Given the description of an element on the screen output the (x, y) to click on. 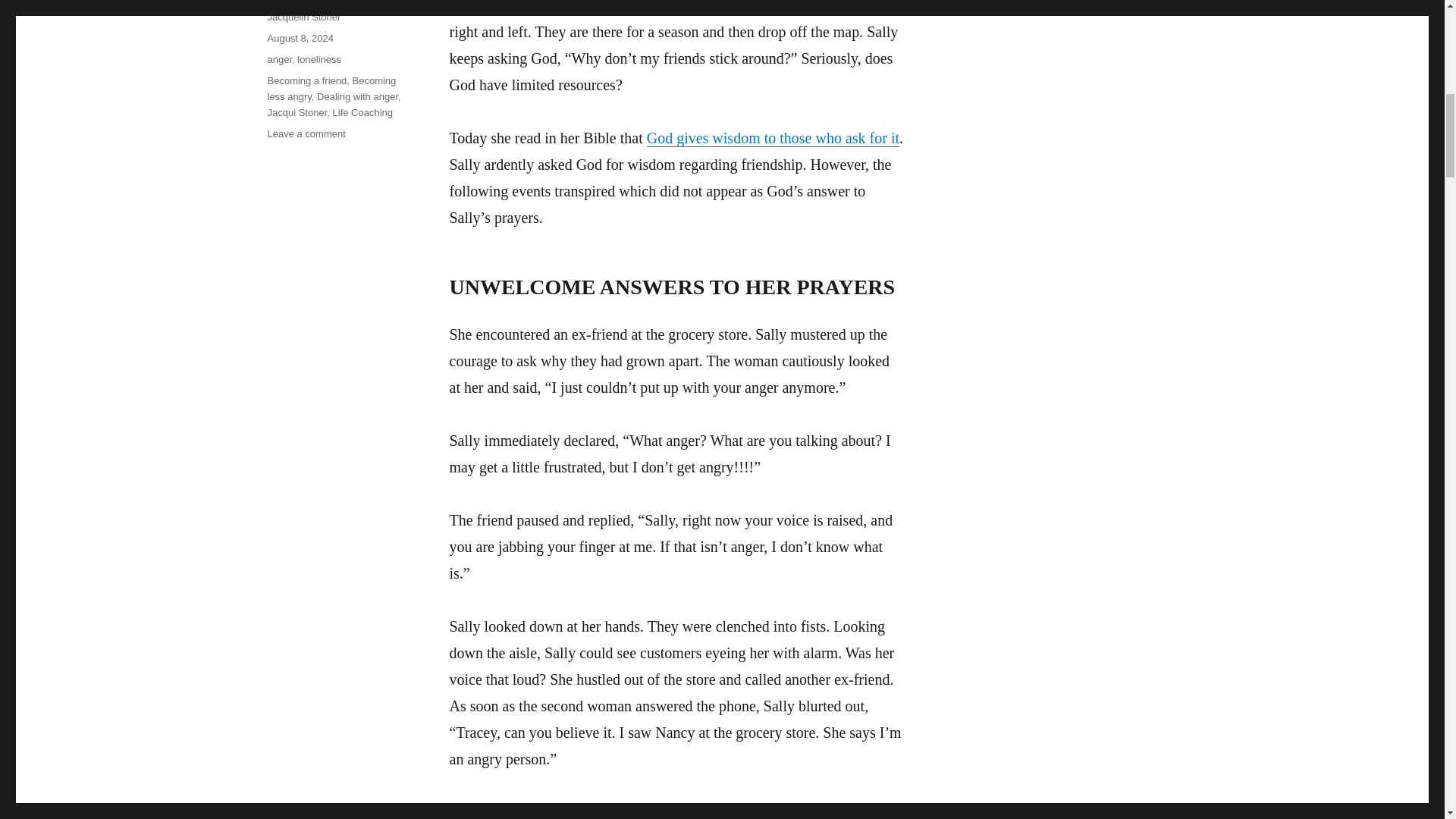
Life Coaching (363, 112)
Becoming less angry (331, 88)
loneliness (318, 59)
Jacqui Stoner (296, 112)
anger (279, 59)
Becoming a friend (306, 80)
Dealing with anger (357, 96)
August 8, 2024 (299, 38)
God gives wisdom to those who ask for it (772, 137)
Jacquelin Stoner (303, 16)
